Given the description of an element on the screen output the (x, y) to click on. 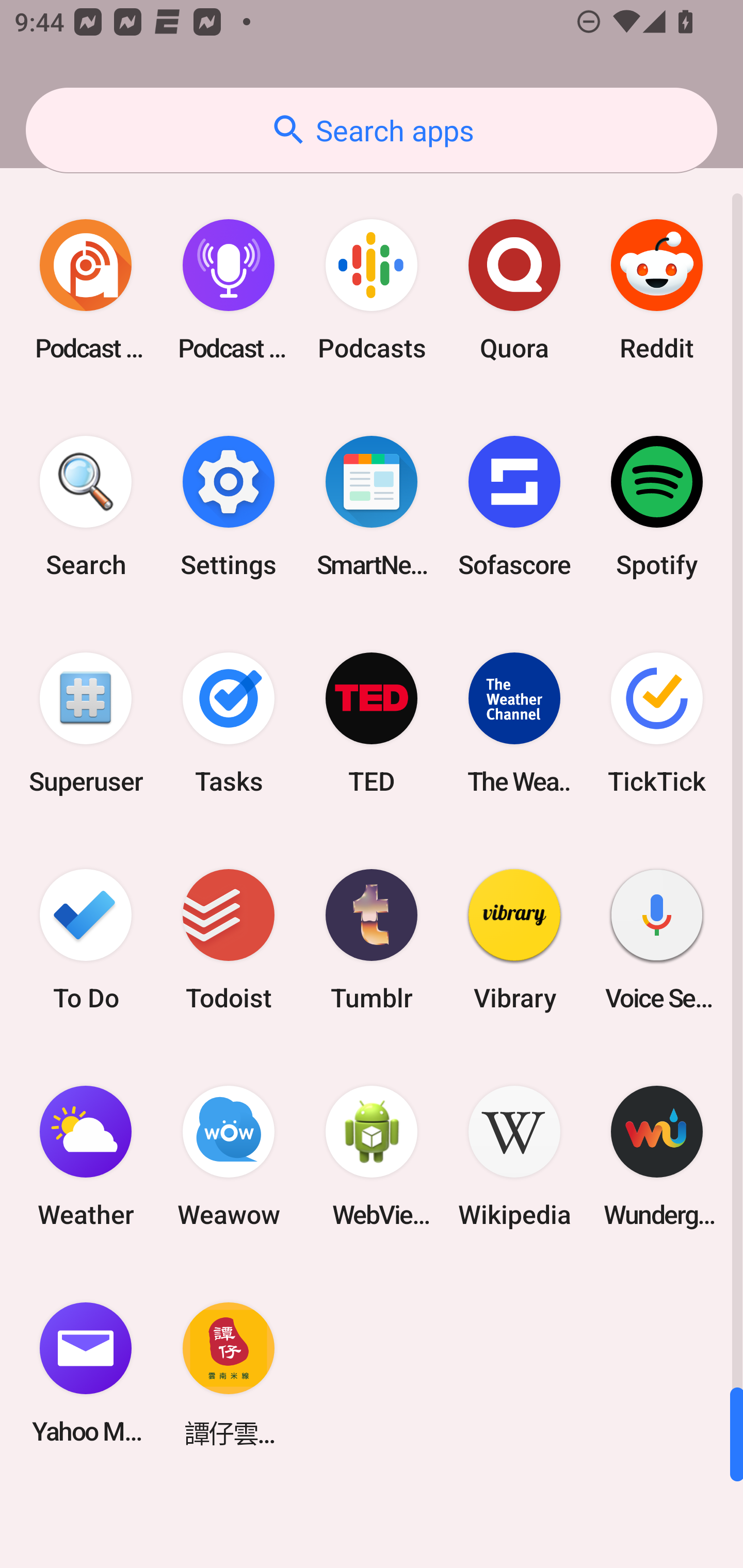
  Search apps (371, 130)
Podcast Addict (85, 289)
Podcast Player (228, 289)
Podcasts (371, 289)
Quora (514, 289)
Reddit (656, 289)
Search (85, 506)
Settings (228, 506)
SmartNews (371, 506)
Sofascore (514, 506)
Spotify (656, 506)
Superuser (85, 722)
Tasks (228, 722)
TED (371, 722)
The Weather Channel (514, 722)
TickTick (656, 722)
To Do (85, 939)
Todoist (228, 939)
Tumblr (371, 939)
Vibrary (514, 939)
Voice Search (656, 939)
Weather (85, 1156)
Weawow (228, 1156)
WebView Browser Tester (371, 1156)
Wikipedia (514, 1156)
Wunderground (656, 1156)
Yahoo Mail (85, 1373)
譚仔雲南米線 (228, 1373)
